Given the description of an element on the screen output the (x, y) to click on. 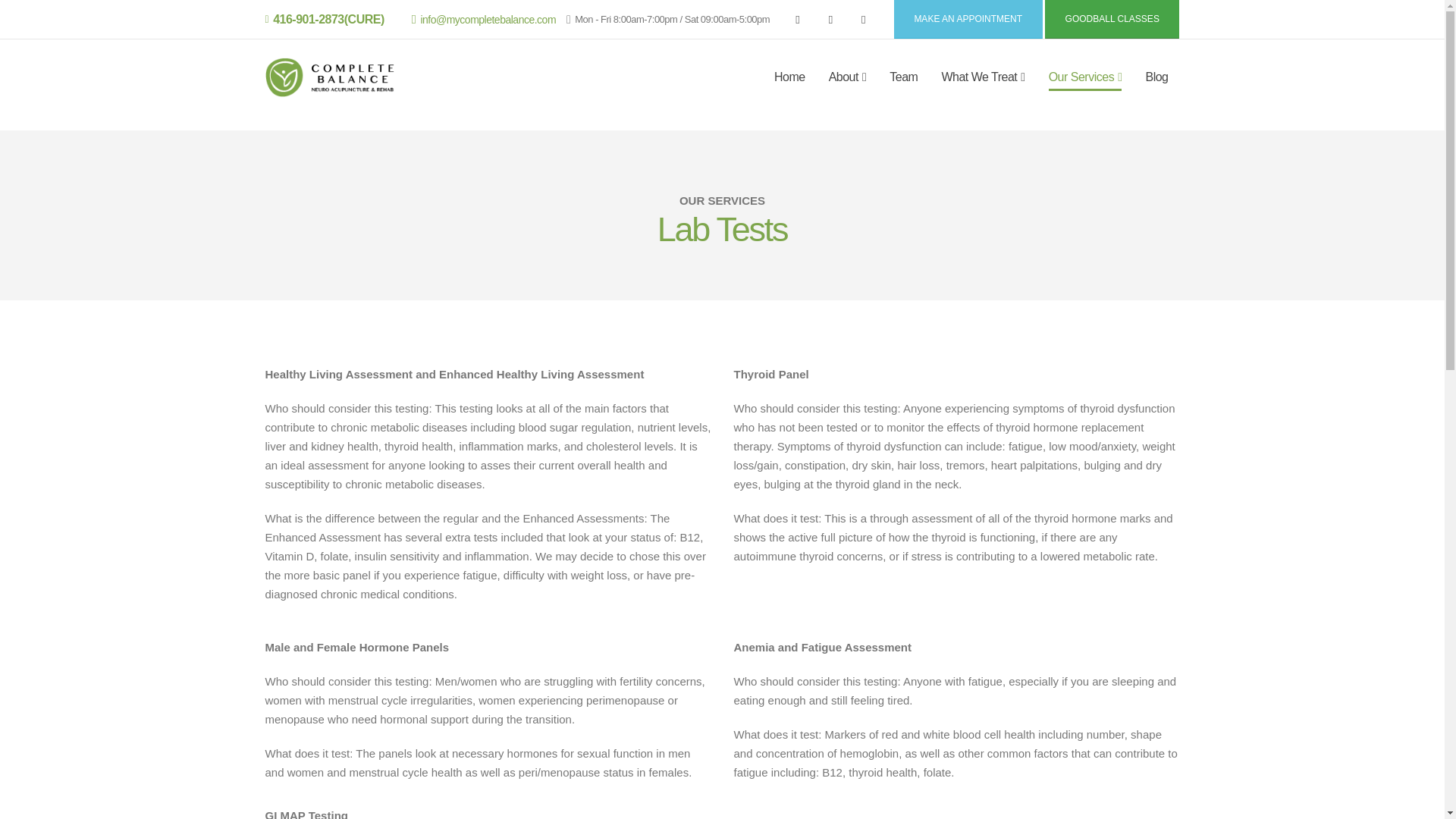
My Complete Balance - Activate Your Body's Healing Power! (329, 77)
What We Treat (982, 77)
Facebook (797, 19)
Youtube (830, 19)
Our Services (1085, 77)
MAKE AN APPOINTMENT (967, 19)
GOODBALL CLASSES (1112, 19)
Instagram (864, 19)
